Given the description of an element on the screen output the (x, y) to click on. 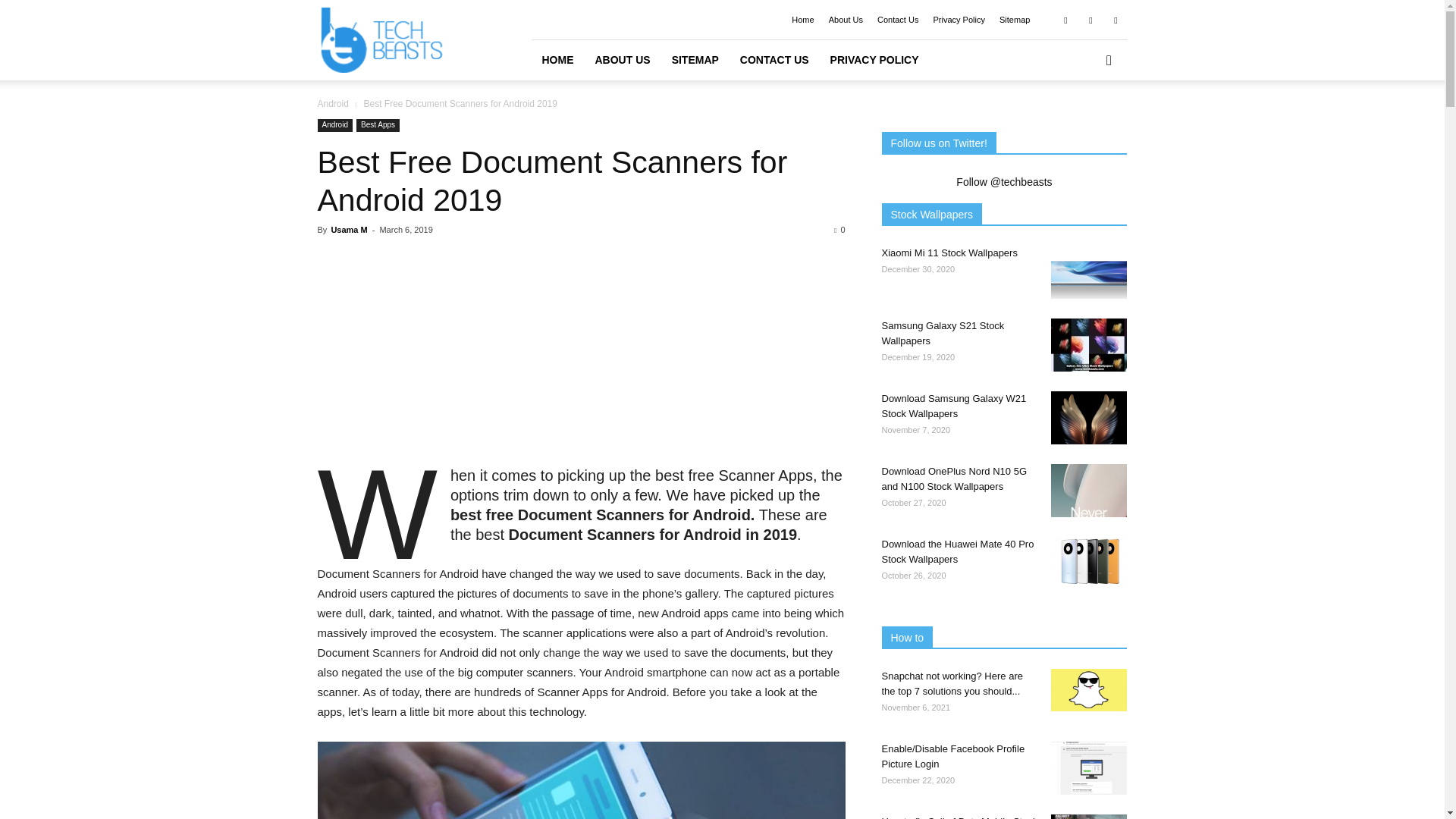
HOME (557, 60)
Android (333, 103)
View all posts in Android (333, 103)
Contact Us (897, 19)
Android (334, 124)
Advertisement (580, 359)
About Us (845, 19)
PRIVACY POLICY (874, 60)
Facebook (1065, 19)
Usama M (348, 229)
Privacy Policy (958, 19)
ABOUT US (622, 60)
0 (839, 229)
Home (802, 19)
CONTACT US (774, 60)
